Given the description of an element on the screen output the (x, y) to click on. 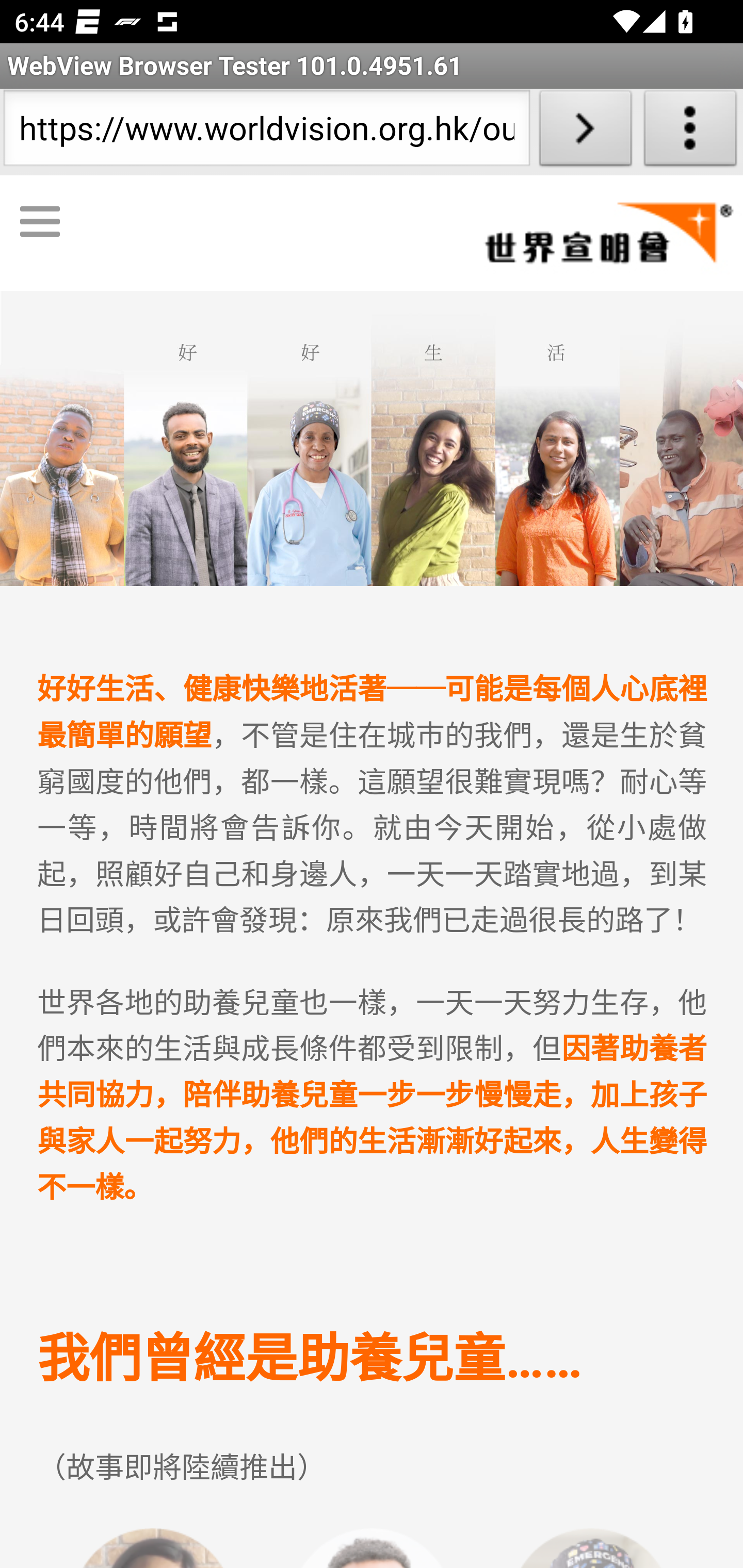
Load URL (585, 132)
About WebView (690, 132)
